Given the description of an element on the screen output the (x, y) to click on. 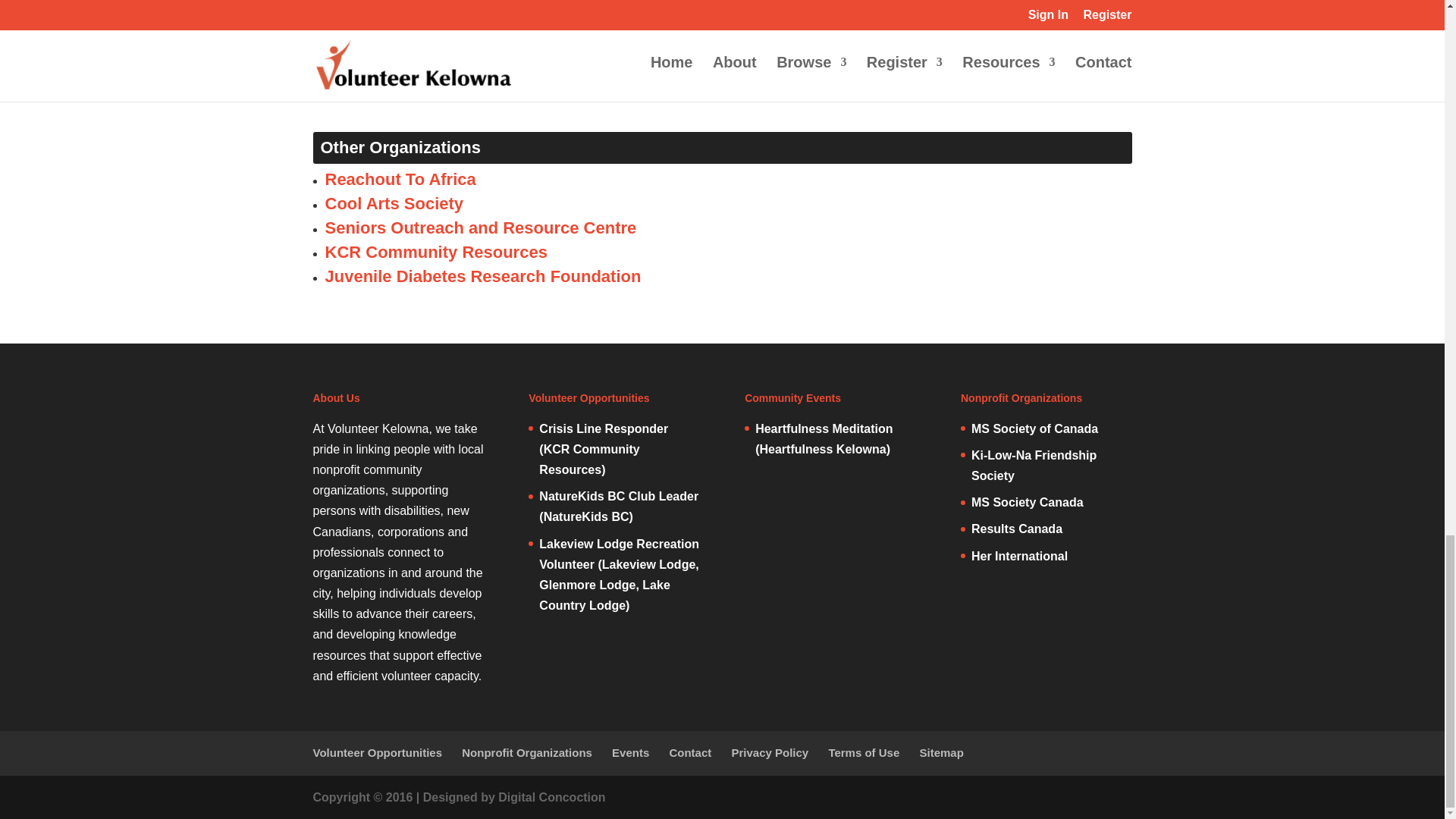
KCR Community Resources (435, 251)
Juvenile Diabetes Research Foundation (482, 275)
Send (339, 78)
Seniors Outreach and Resource Centre (480, 227)
Send (339, 78)
Ki-Low-Na Friendship Society (1033, 465)
Reachout To Africa (400, 179)
MS Society of Canada (1034, 428)
Volunteer Opportunities (377, 752)
Results Canada (1016, 528)
MS Society Canada (1027, 502)
Her International (1019, 555)
Cool Arts Society (393, 203)
